Given the description of an element on the screen output the (x, y) to click on. 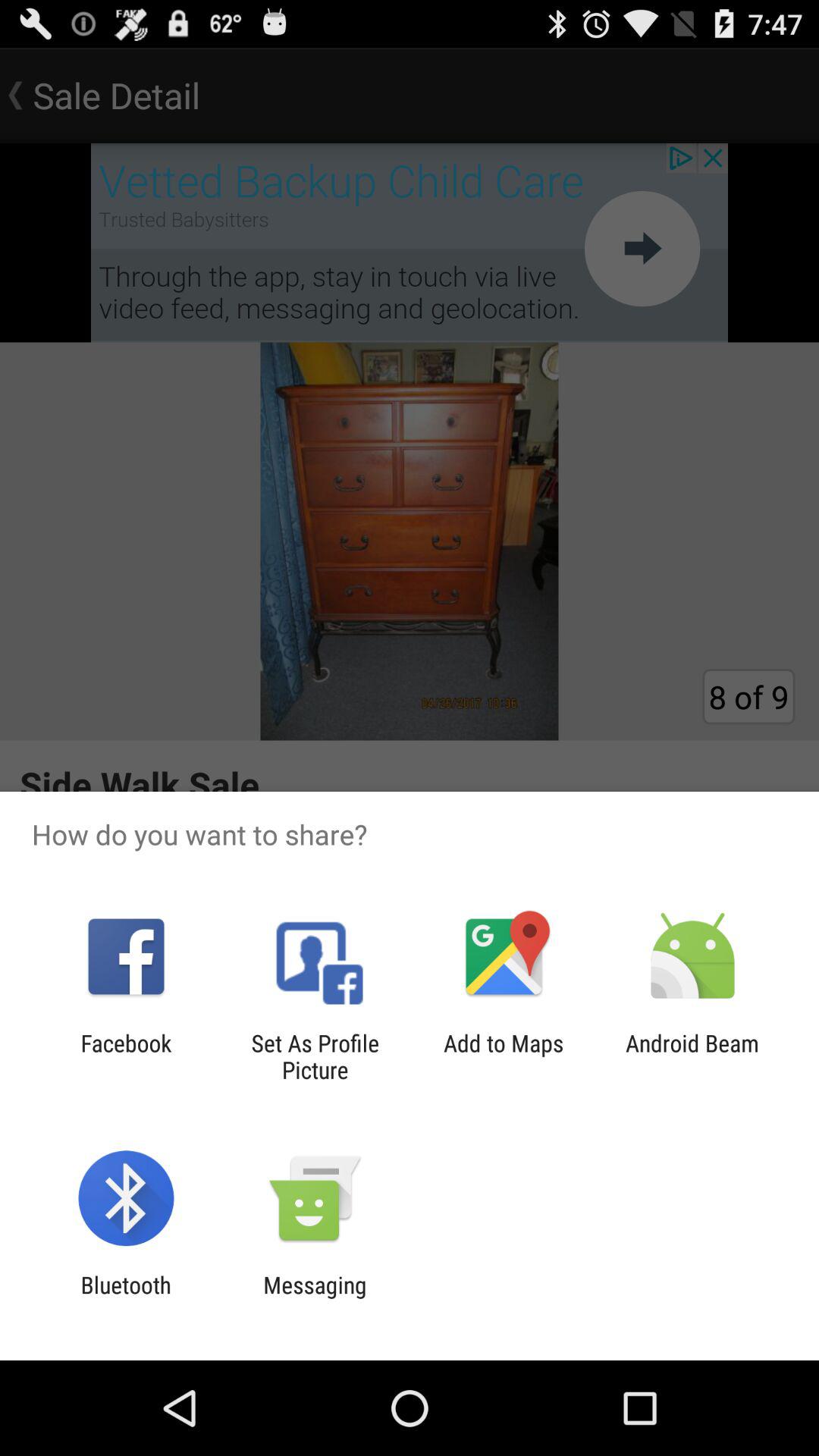
scroll until add to maps (503, 1056)
